Given the description of an element on the screen output the (x, y) to click on. 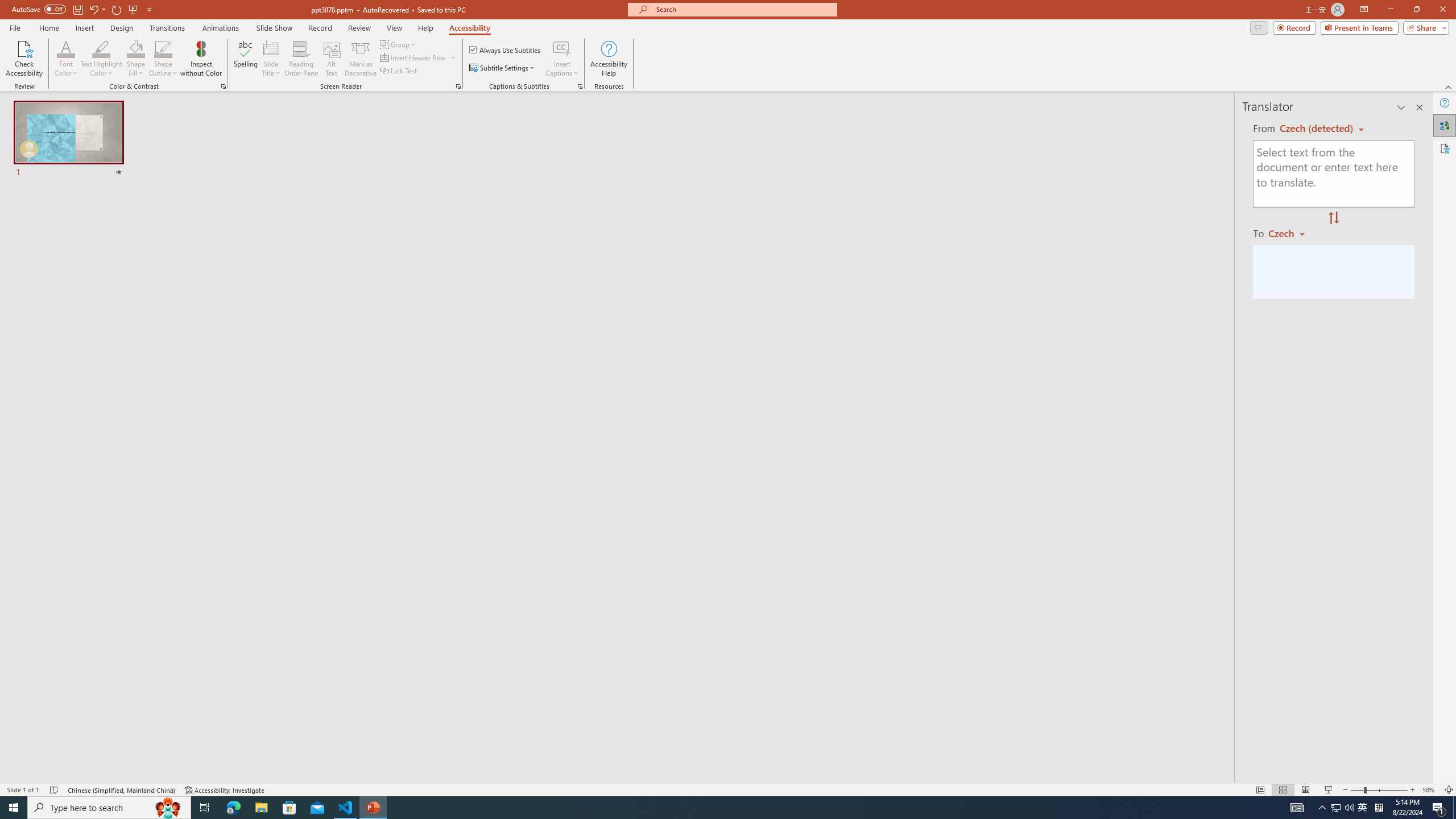
Insert Header Row (418, 56)
Alt Text (331, 58)
Link Text (399, 69)
Group (398, 44)
